Given the description of an element on the screen output the (x, y) to click on. 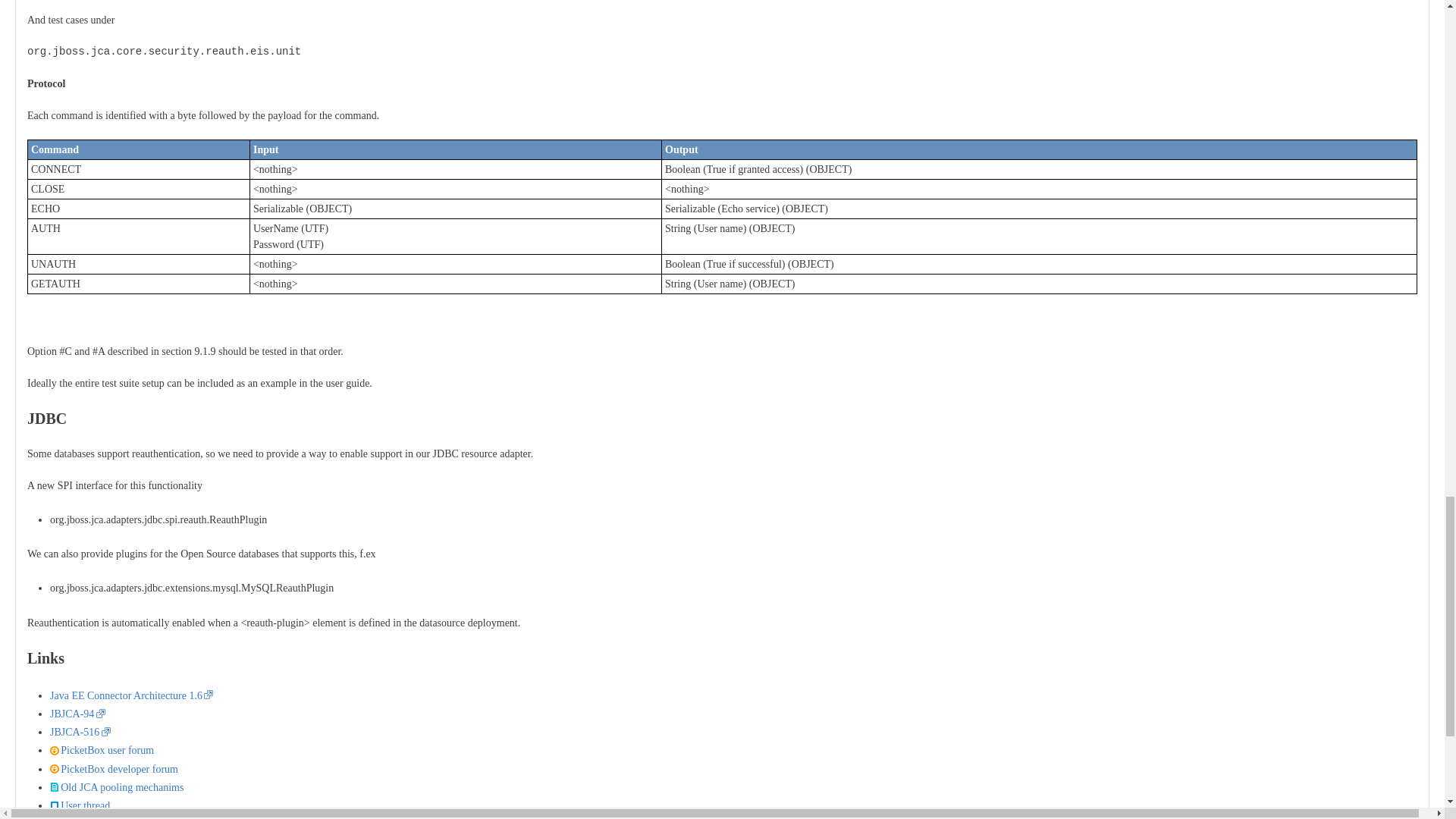
JBJCA-94 (76, 713)
Old JCA pooling mechanims (116, 787)
User thread (79, 805)
PicketBox developer forum (113, 768)
JBAS-1429 (79, 818)
JBJCA-516 (79, 731)
PicketBox user forum (101, 749)
Java EE Connector Architecture 1.6 (130, 695)
